Given the description of an element on the screen output the (x, y) to click on. 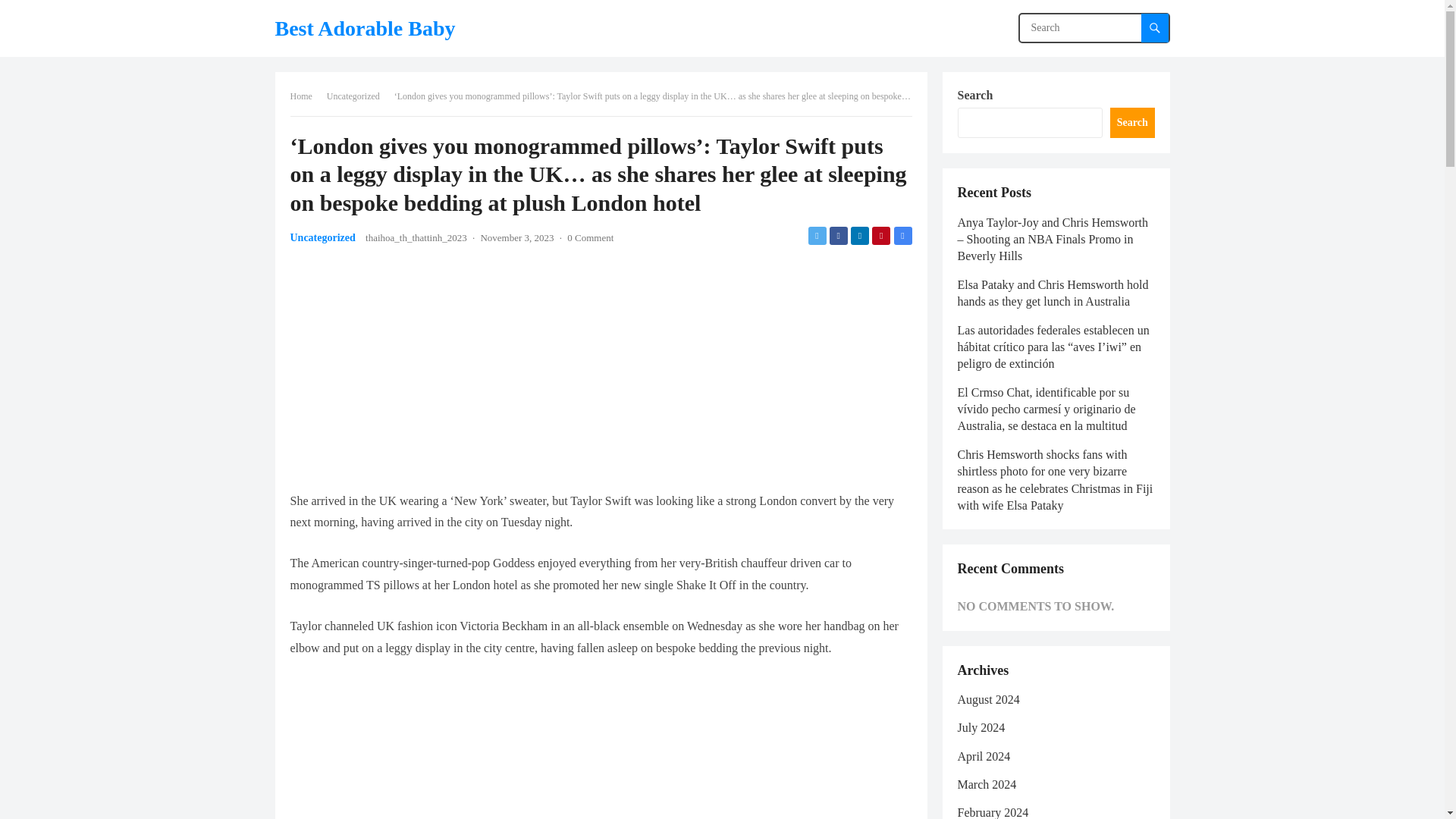
Home (305, 95)
Uncategorized (322, 237)
Best Adorable Baby (364, 28)
Uncategorized (358, 95)
0 Comment (589, 237)
